Given the description of an element on the screen output the (x, y) to click on. 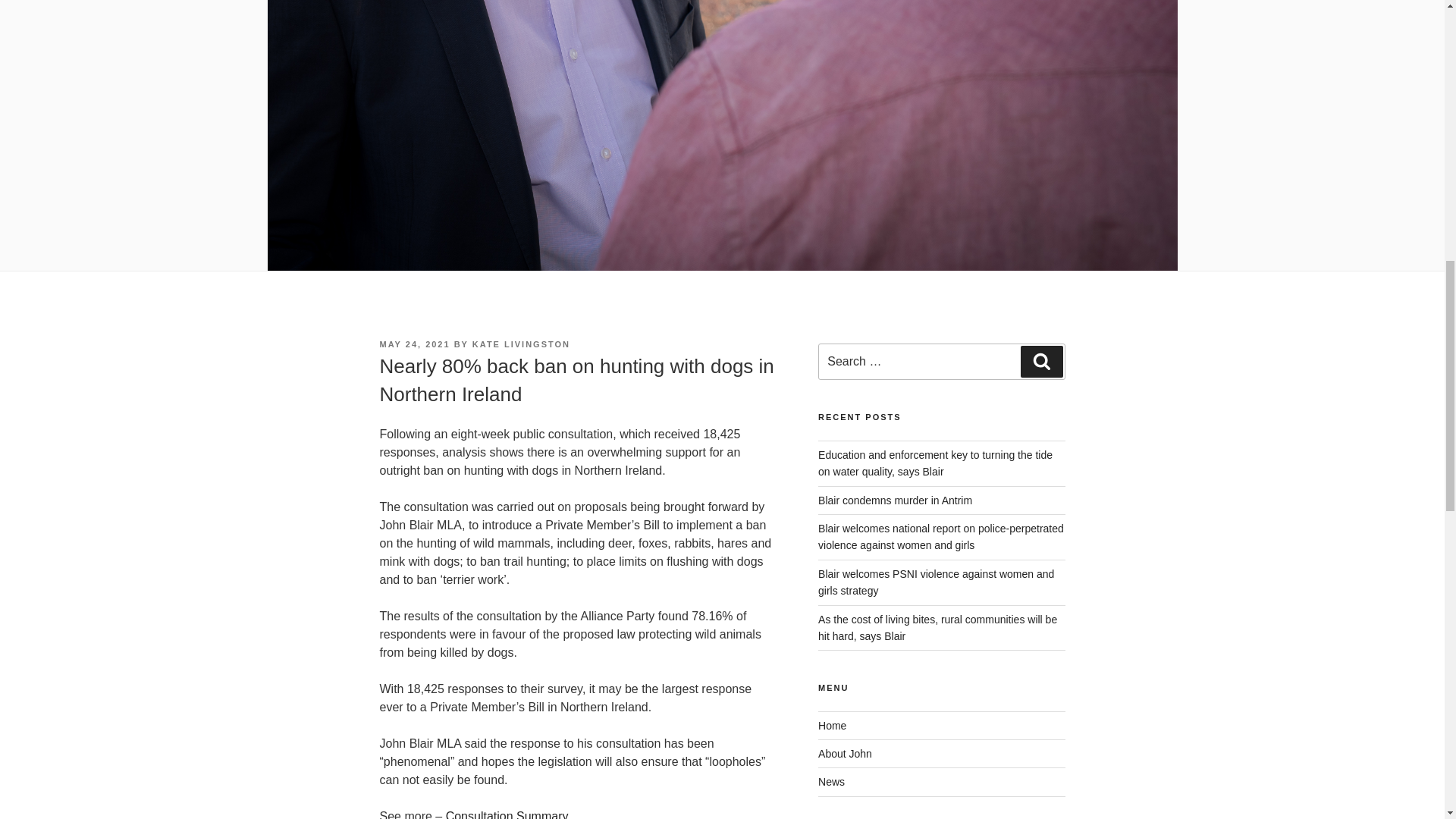
About John (845, 753)
KATE LIVINGSTON (520, 343)
Home (831, 725)
MAY 24, 2021 (413, 343)
News (831, 781)
Consultation Summary. (507, 814)
Search (1041, 361)
Blair condemns murder in Antrim (895, 500)
